Given the description of an element on the screen output the (x, y) to click on. 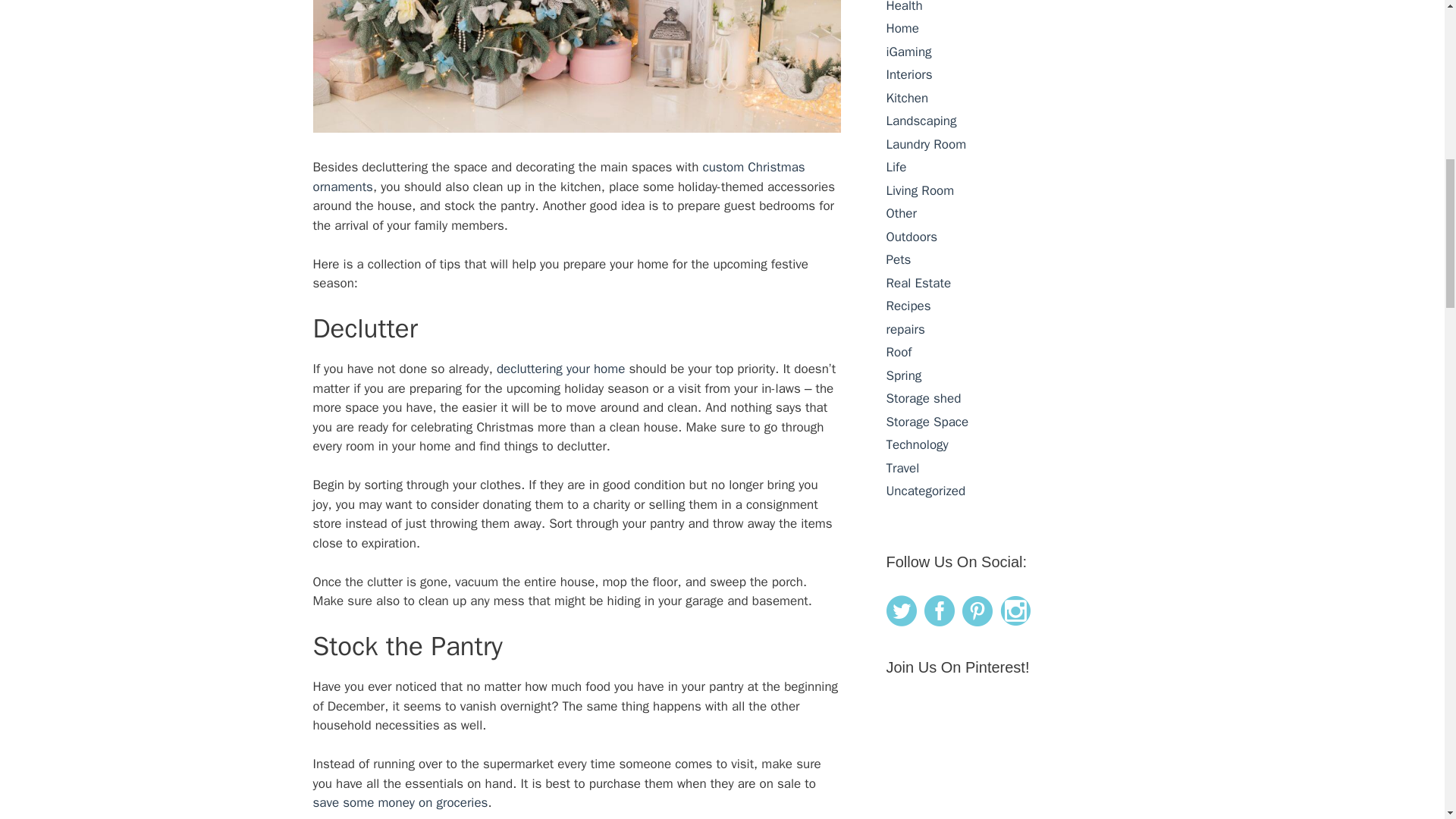
custom Christmas ornaments (559, 176)
decluttering your home (560, 368)
save some money on groceries (400, 802)
